Given the description of an element on the screen output the (x, y) to click on. 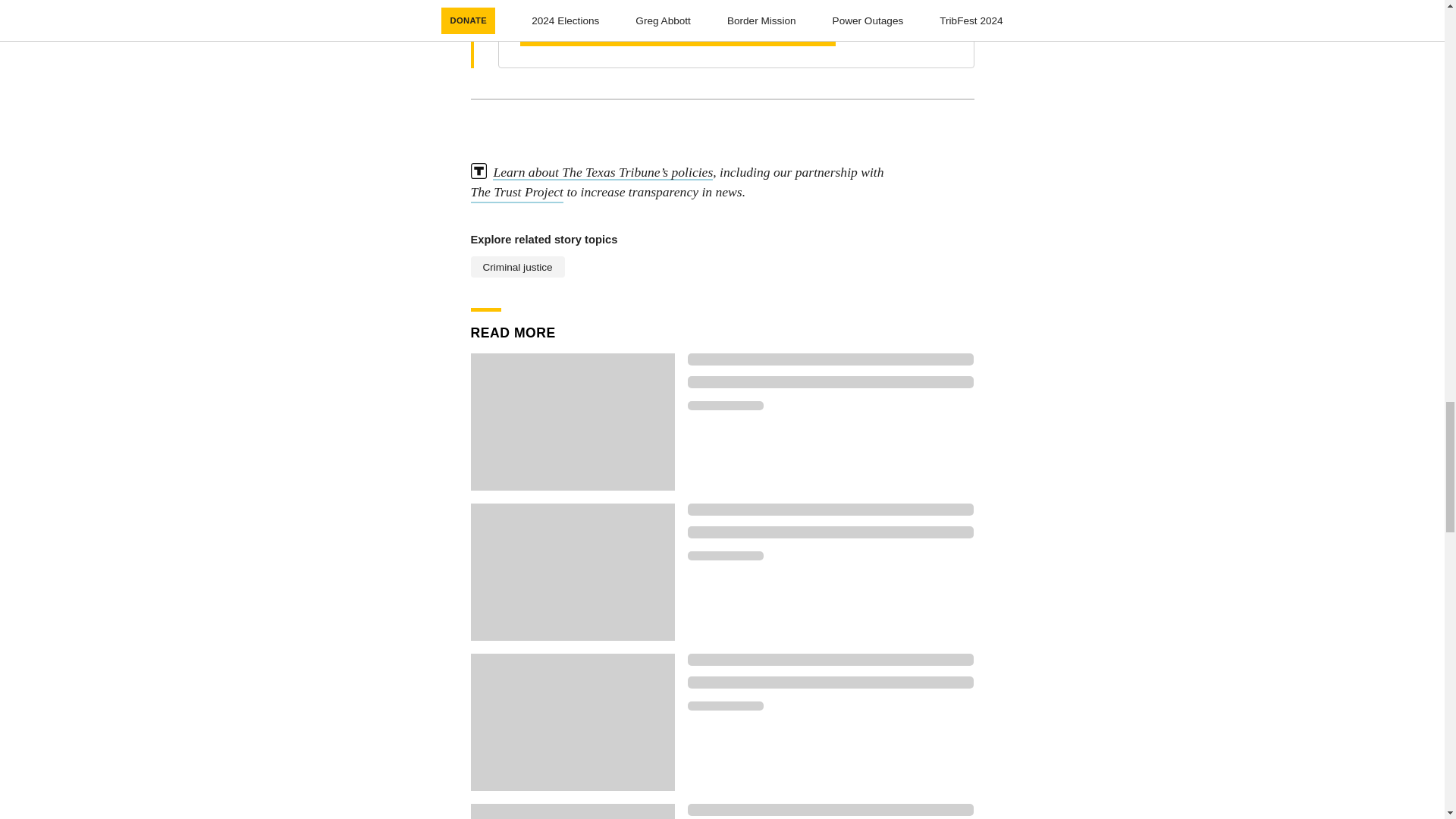
Loading indicator (830, 358)
Loading indicator (724, 405)
Loading indicator (830, 381)
Loading indicator (830, 509)
Loading indicator (830, 682)
Loading indicator (724, 705)
Loading indicator (830, 659)
Loading indicator (724, 555)
Loading indicator (830, 532)
Loading indicator (830, 809)
